Given the description of an element on the screen output the (x, y) to click on. 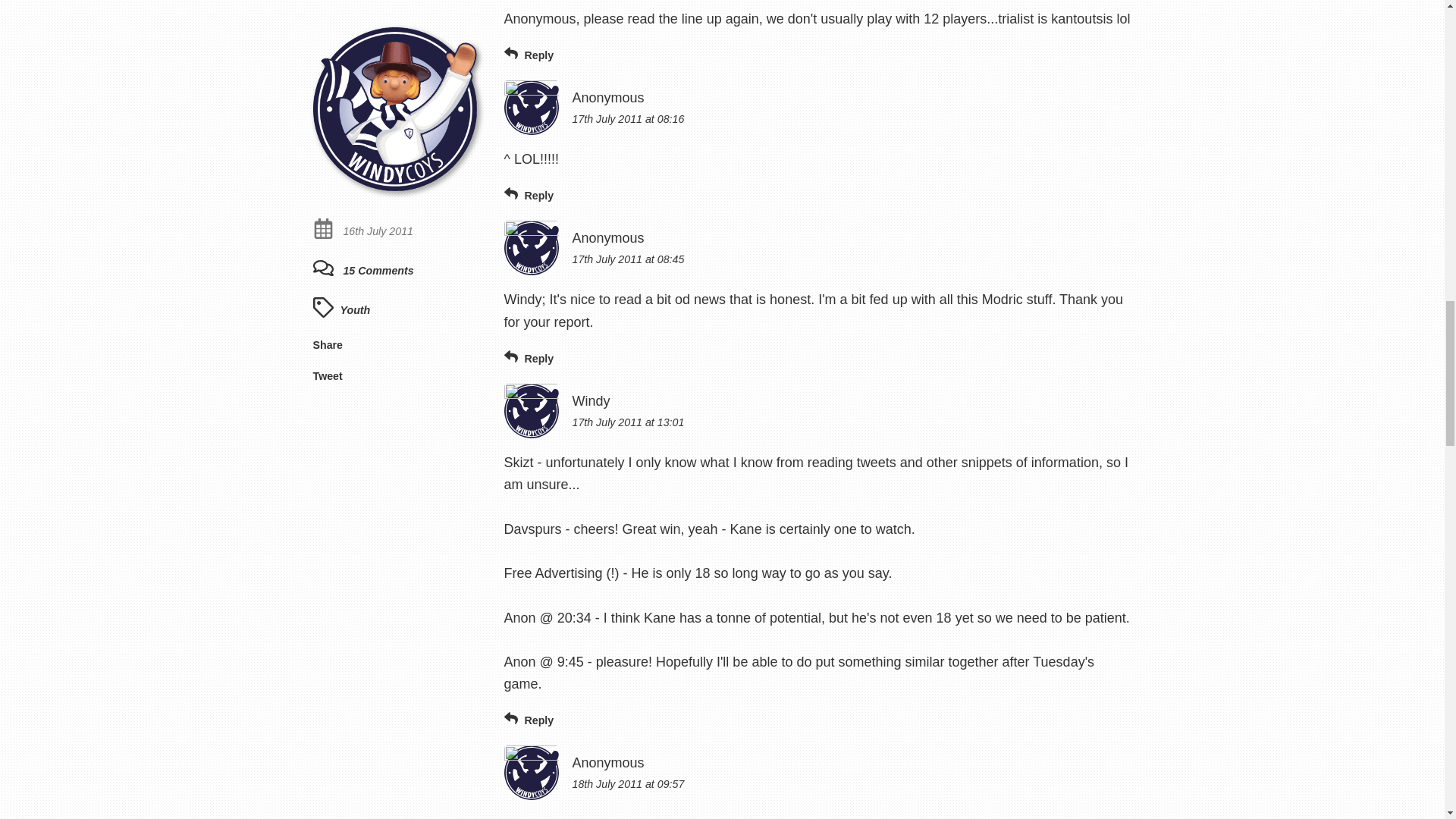
Reply (528, 195)
Reply (528, 720)
Reply (528, 357)
Reply (528, 54)
